Given the description of an element on the screen output the (x, y) to click on. 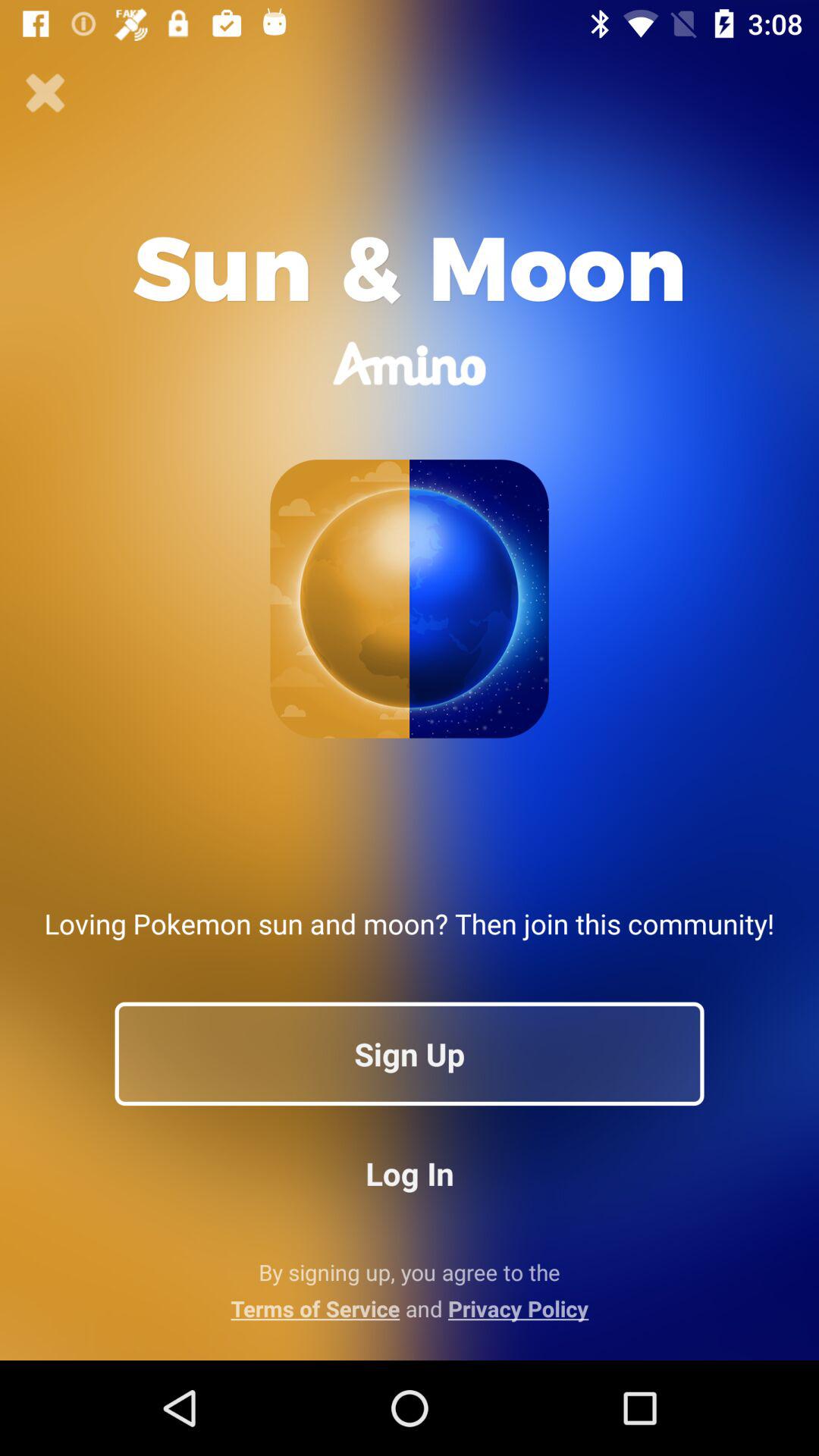
turn on icon at the top left corner (45, 93)
